Given the description of an element on the screen output the (x, y) to click on. 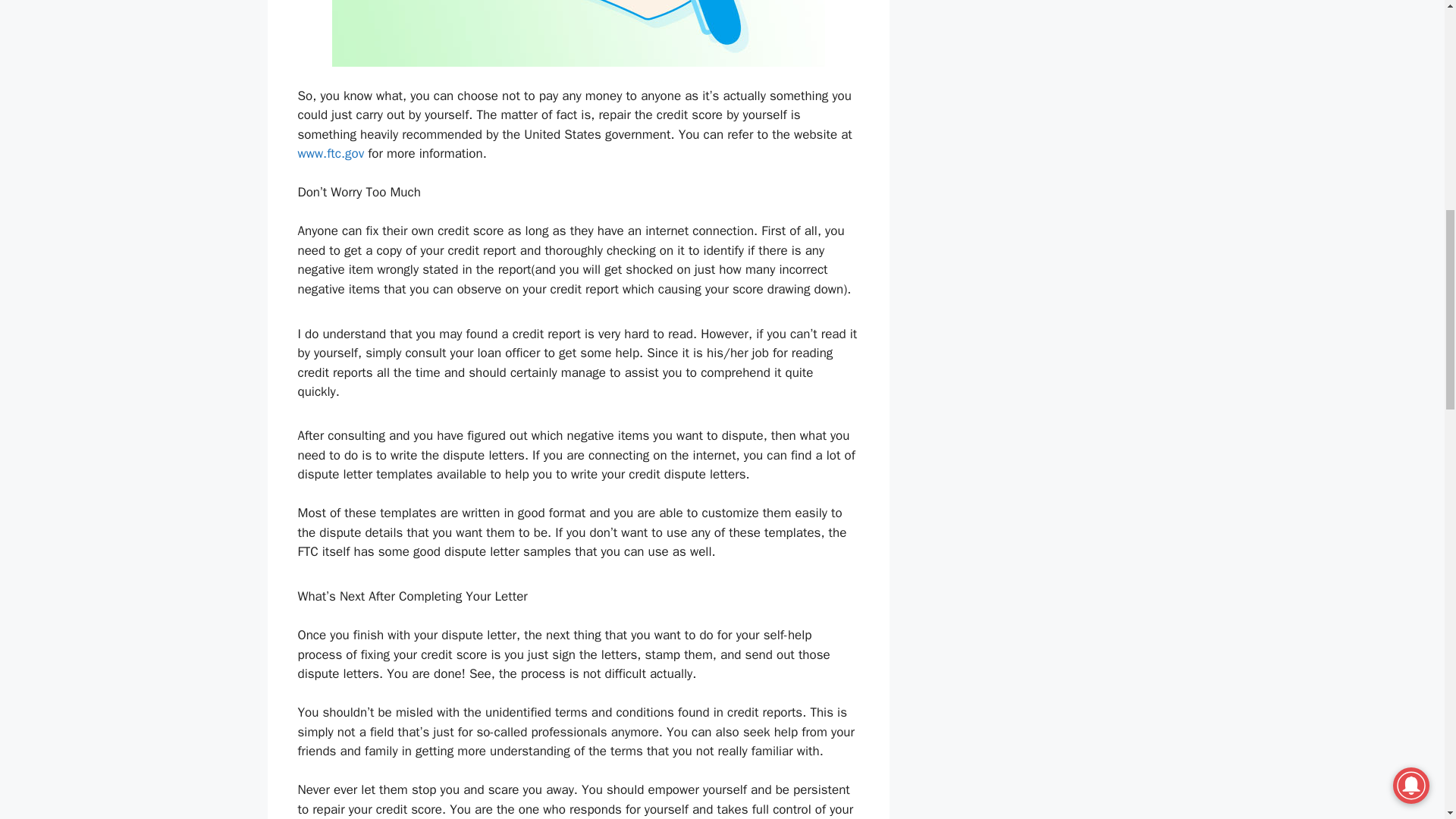
www.ftc.gov (330, 153)
